Given the description of an element on the screen output the (x, y) to click on. 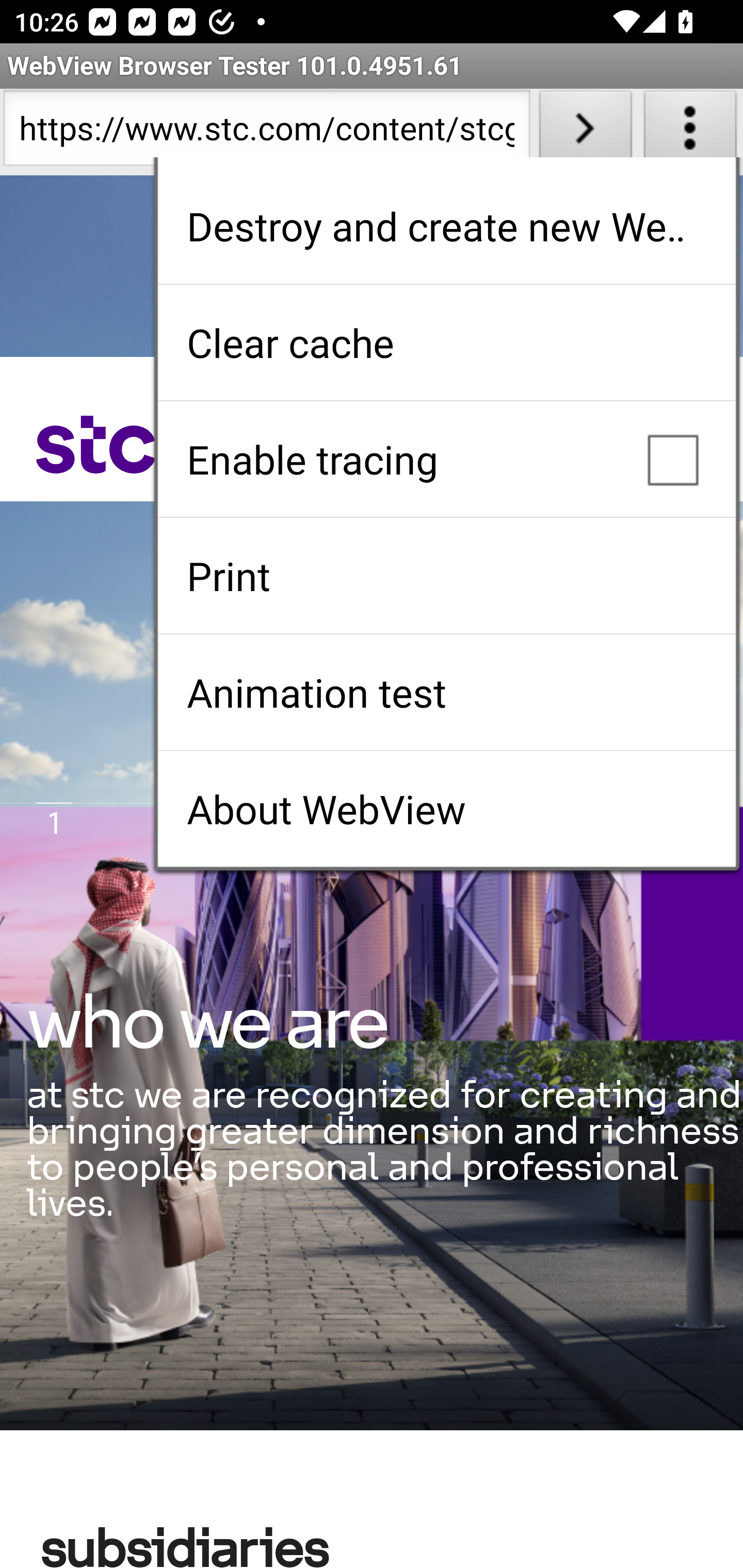
Destroy and create new WebView (446, 225)
Clear cache (446, 342)
Enable tracing (446, 459)
Print (446, 575)
Animation test (446, 692)
About WebView (446, 809)
